Given the description of an element on the screen output the (x, y) to click on. 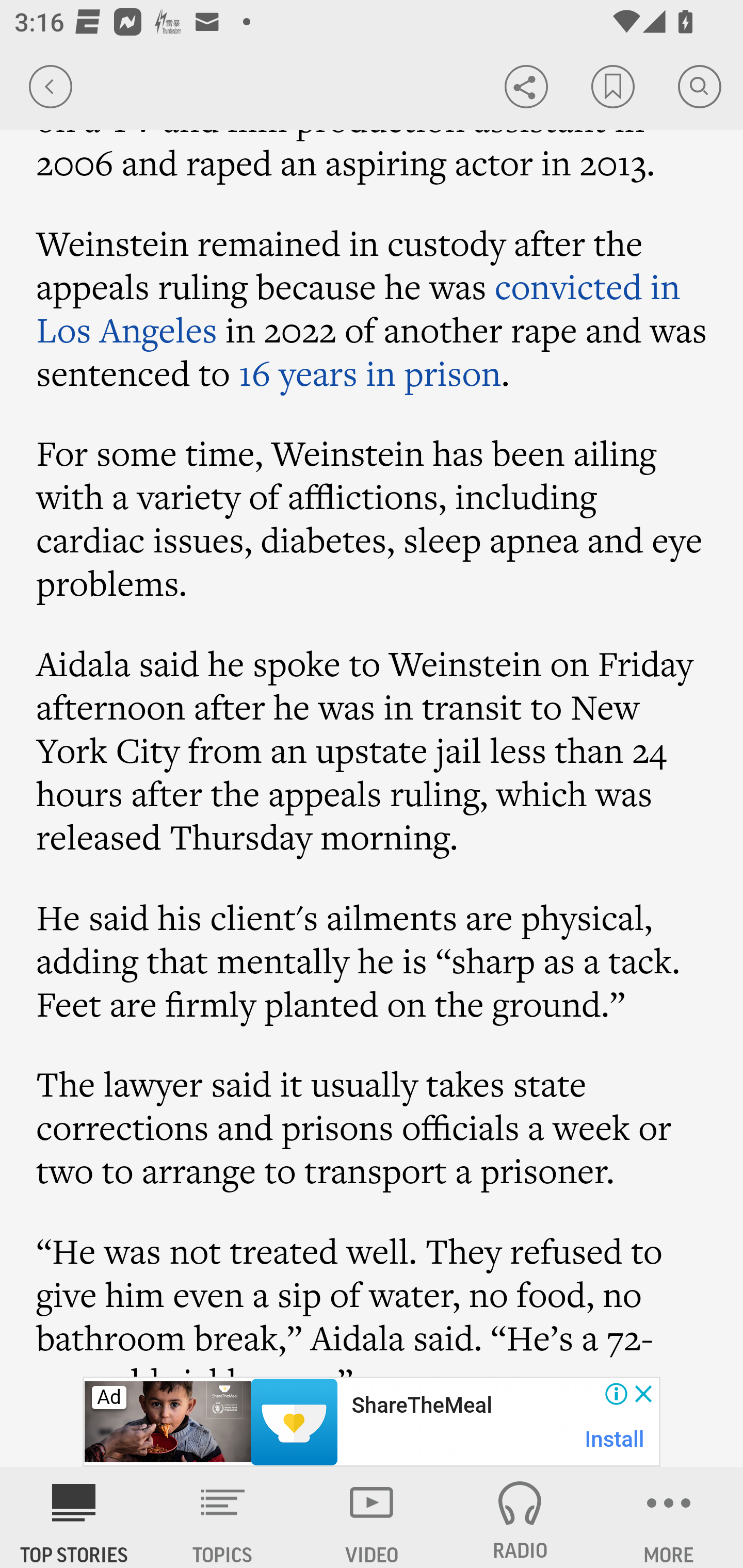
convicted in Los Angeles (358, 306)
16 years in prison (370, 372)
ShareTheMeal (420, 1405)
Install (614, 1438)
AP News TOP STORIES (74, 1517)
TOPICS (222, 1517)
VIDEO (371, 1517)
RADIO (519, 1517)
MORE (668, 1517)
